Given the description of an element on the screen output the (x, y) to click on. 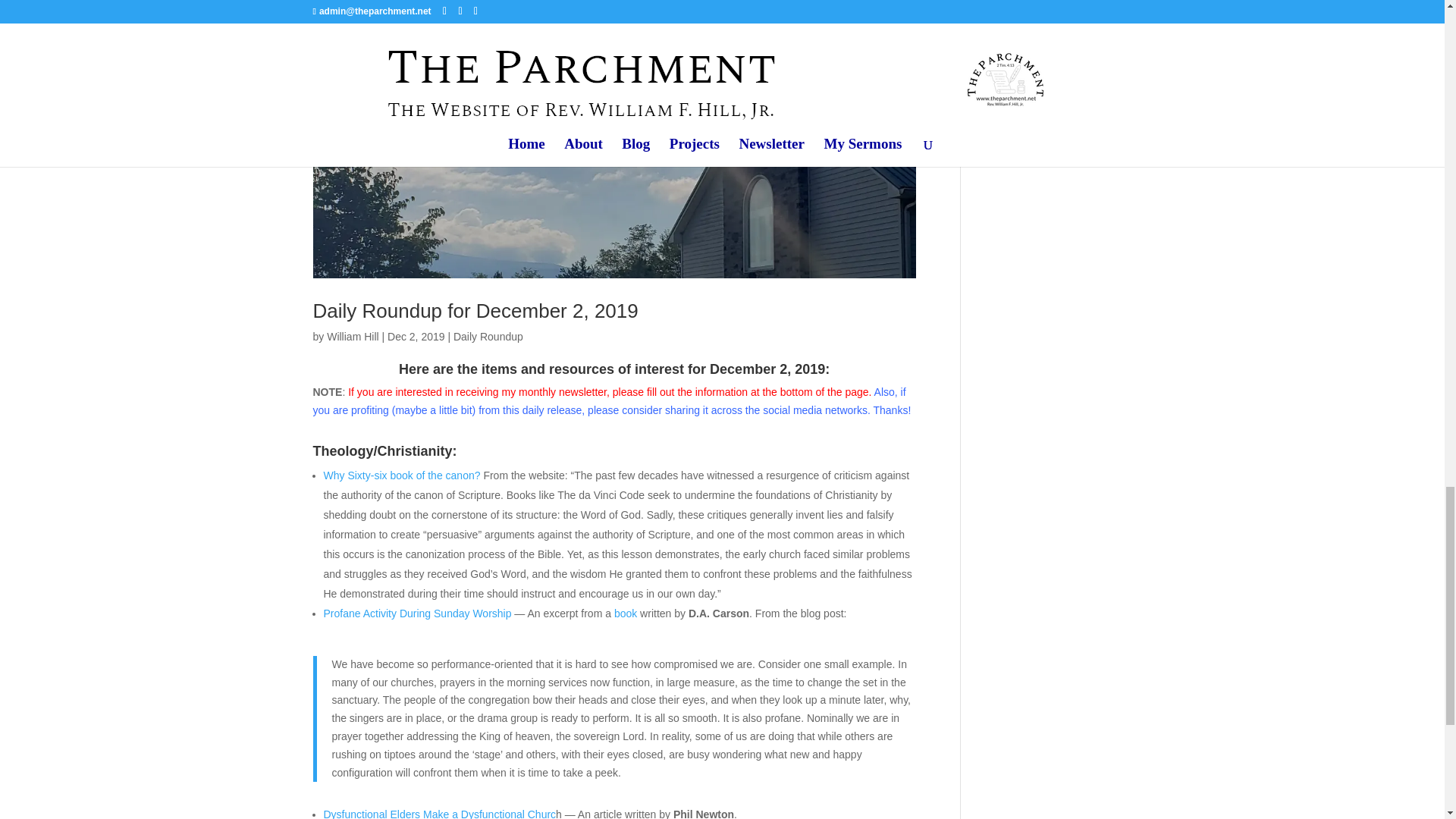
Profane Activity During Sunday Worship (417, 613)
book (625, 613)
William Hill (352, 336)
Daily Roundup for December 2, 2019 (475, 310)
Dysfunctional Elders Make a Dysfunctional Churc (439, 813)
Why Sixty-six book of the canon? (401, 475)
Daily Roundup (487, 336)
Posts by William Hill (352, 336)
